Given the description of an element on the screen output the (x, y) to click on. 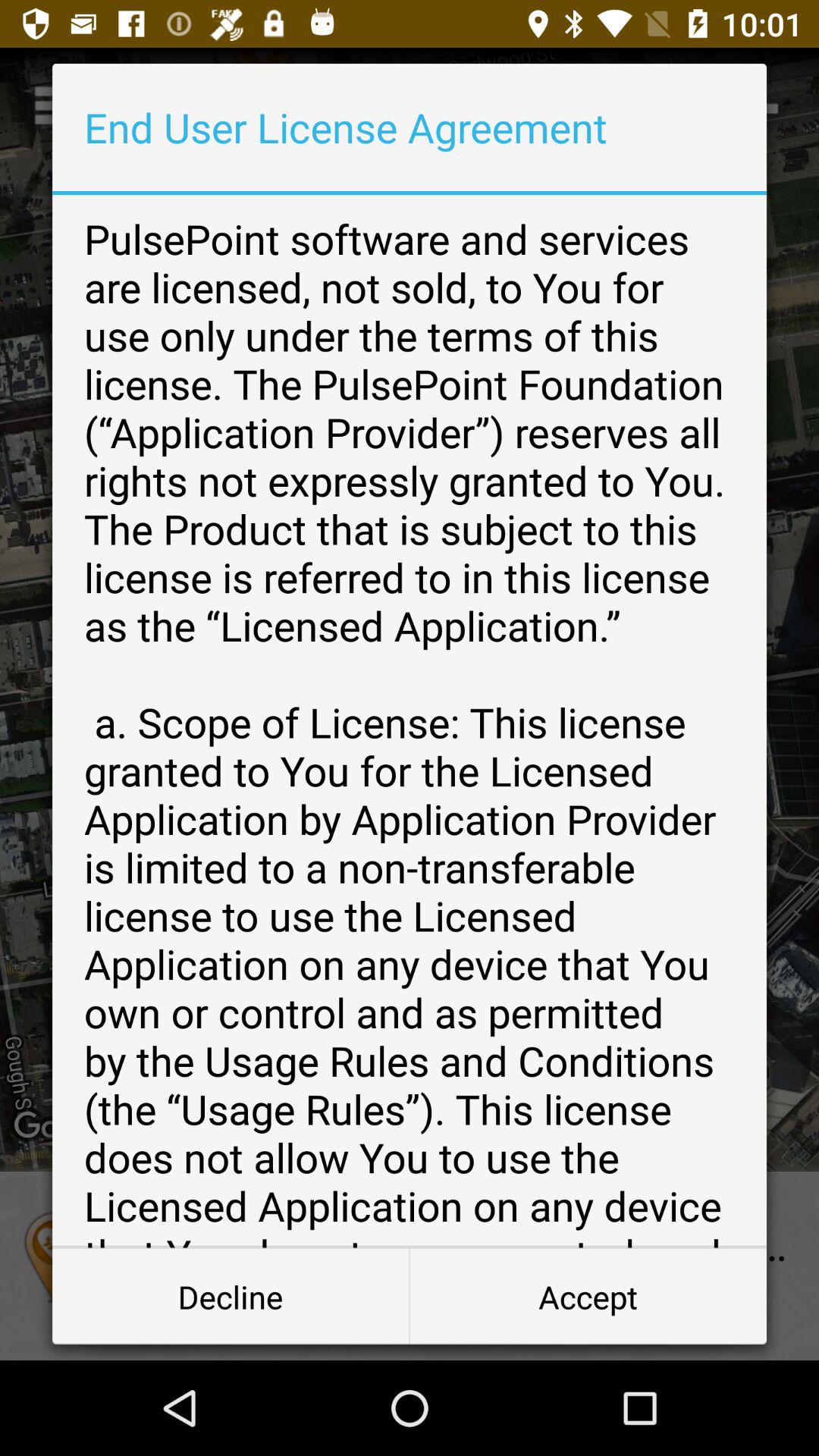
click item at the bottom left corner (230, 1296)
